Given the description of an element on the screen output the (x, y) to click on. 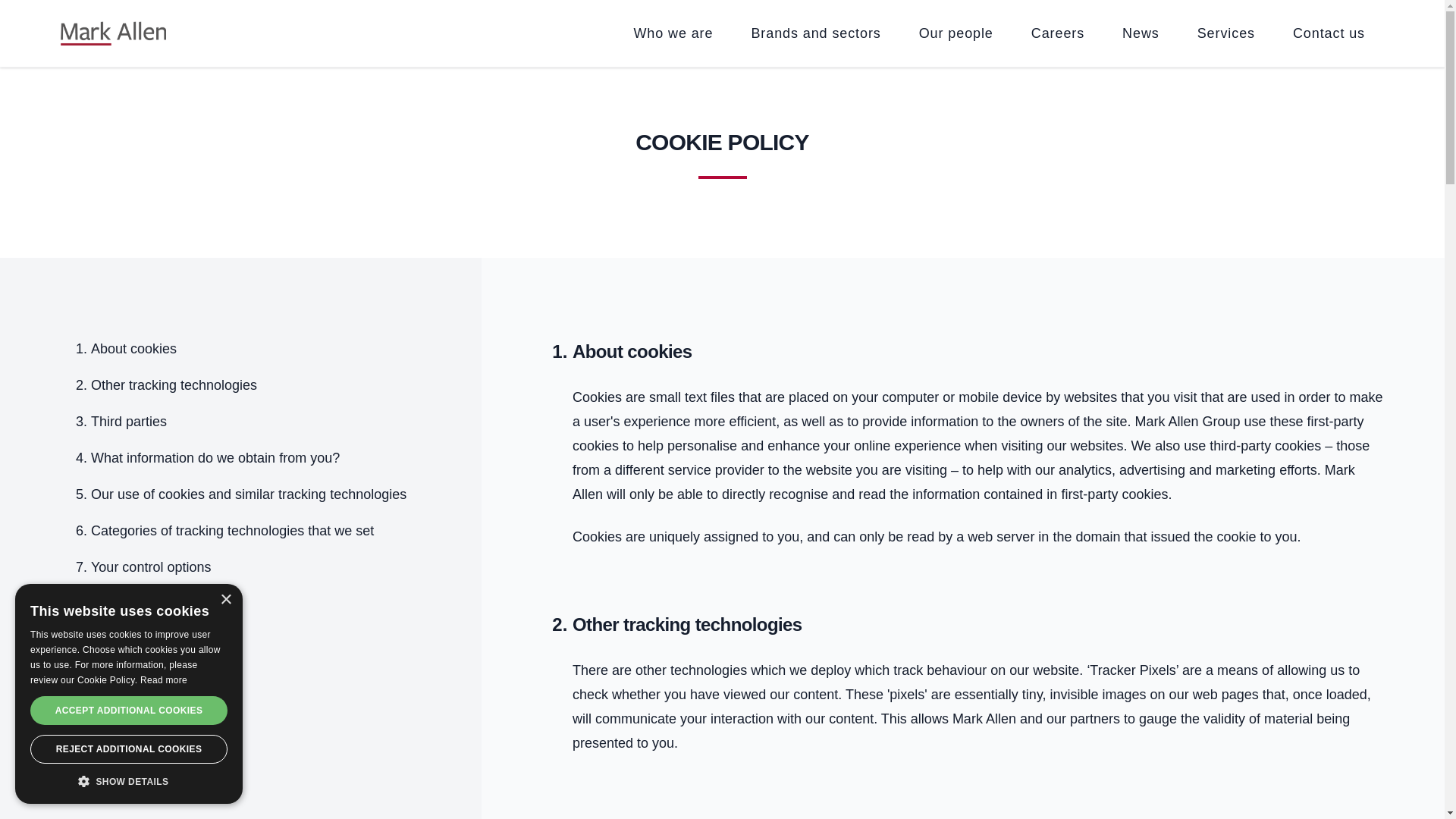
Who we are (672, 33)
Services (1226, 33)
Other tracking technologies (173, 385)
Your control options (150, 566)
Read more (163, 679)
Careers (1058, 33)
Brands and sectors (815, 33)
Third parties (128, 421)
Our use of cookies and similar tracking technologies (248, 494)
What information do we obtain from you? (214, 458)
Contact us (1328, 33)
Categories of tracking technologies that we set (232, 530)
Our people (955, 33)
News (1140, 33)
About cookies (133, 348)
